Given the description of an element on the screen output the (x, y) to click on. 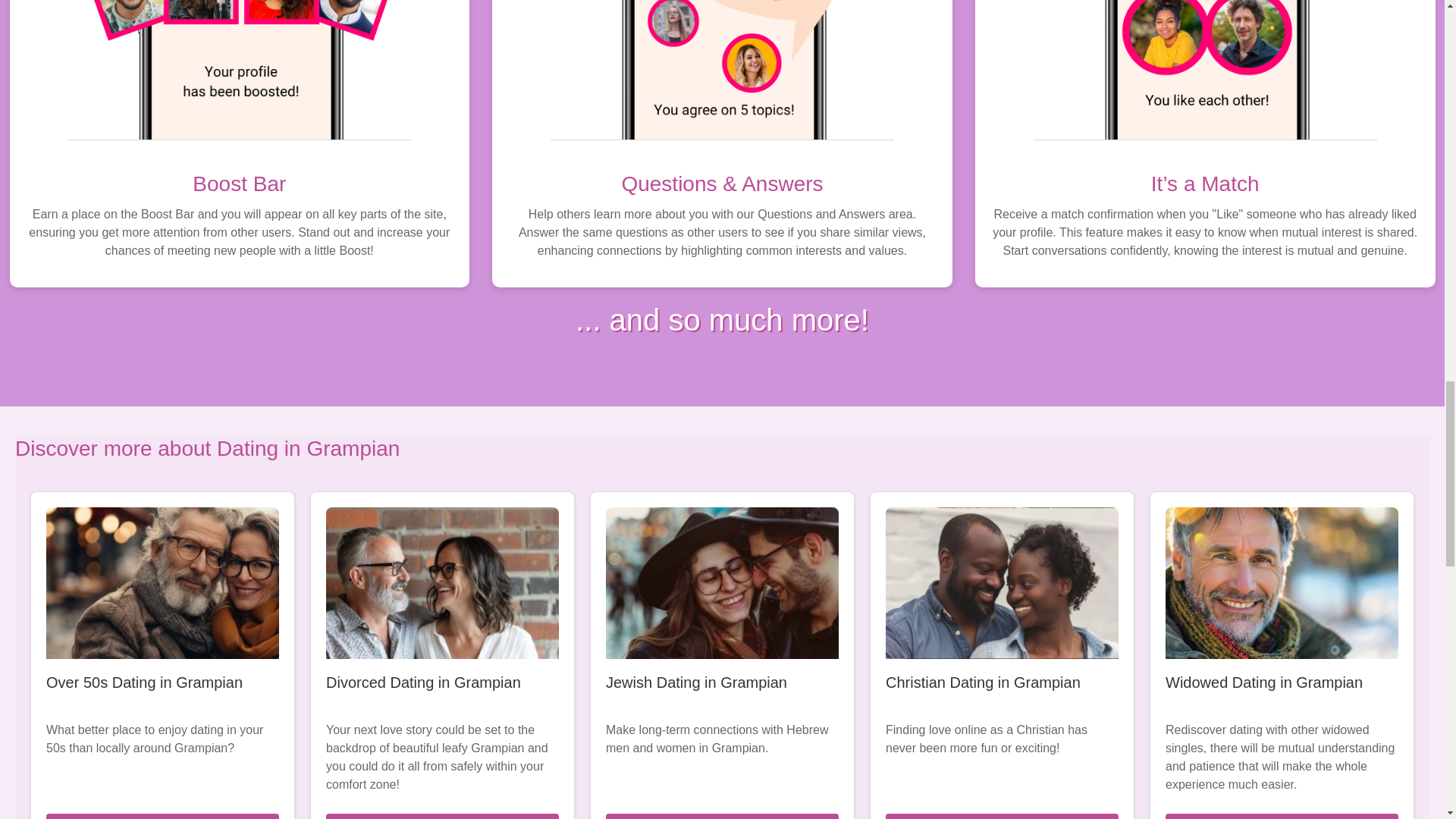
Read more (442, 816)
Read more (1001, 816)
Read more (162, 816)
Read more (721, 816)
Read more (1281, 816)
